Given the description of an element on the screen output the (x, y) to click on. 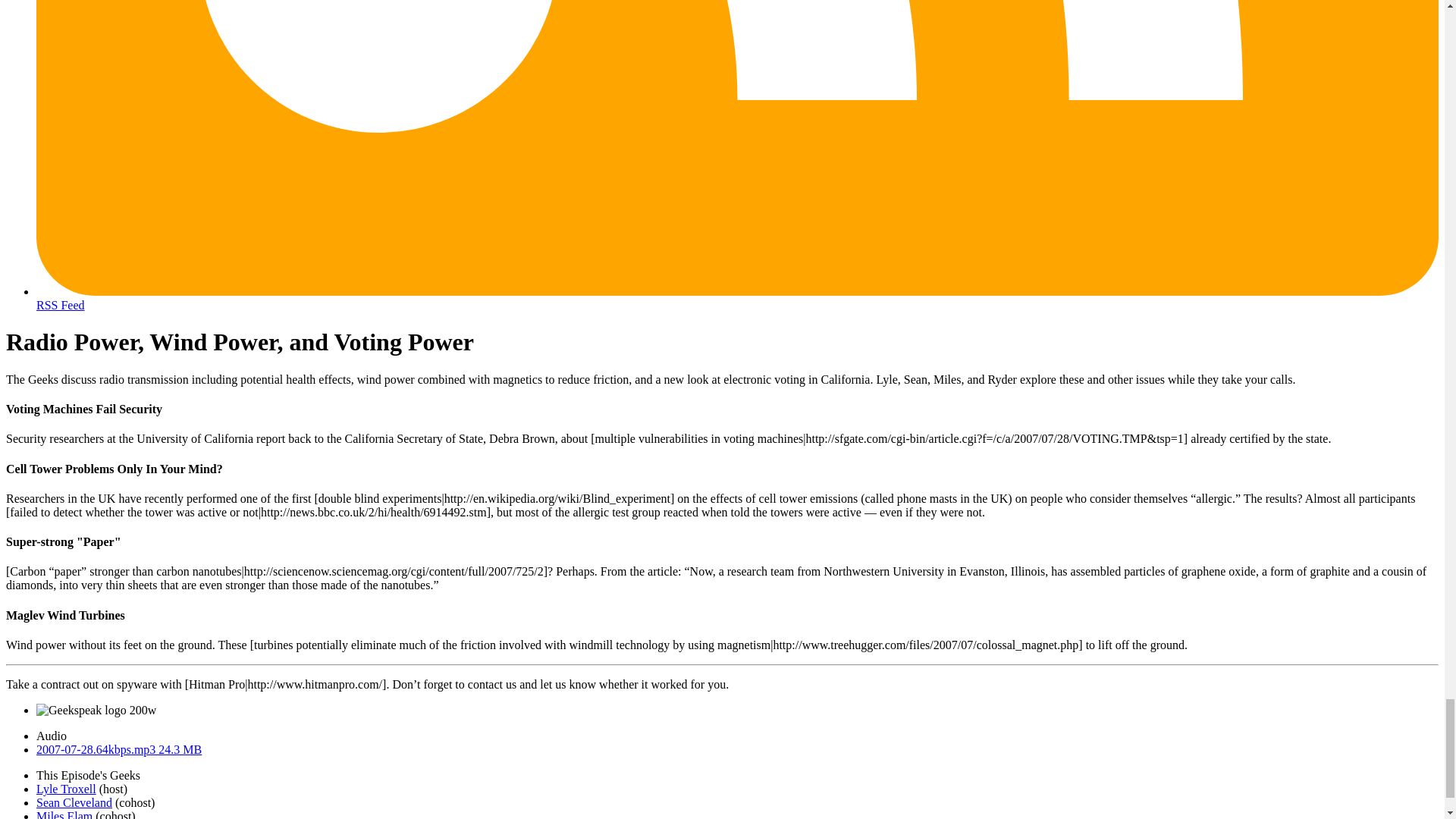
Lyle Troxell (66, 788)
2007-07-28.64kbps.mp3 24.3 MB (119, 748)
Miles Elam (64, 814)
Sean Cleveland (74, 802)
